Given the description of an element on the screen output the (x, y) to click on. 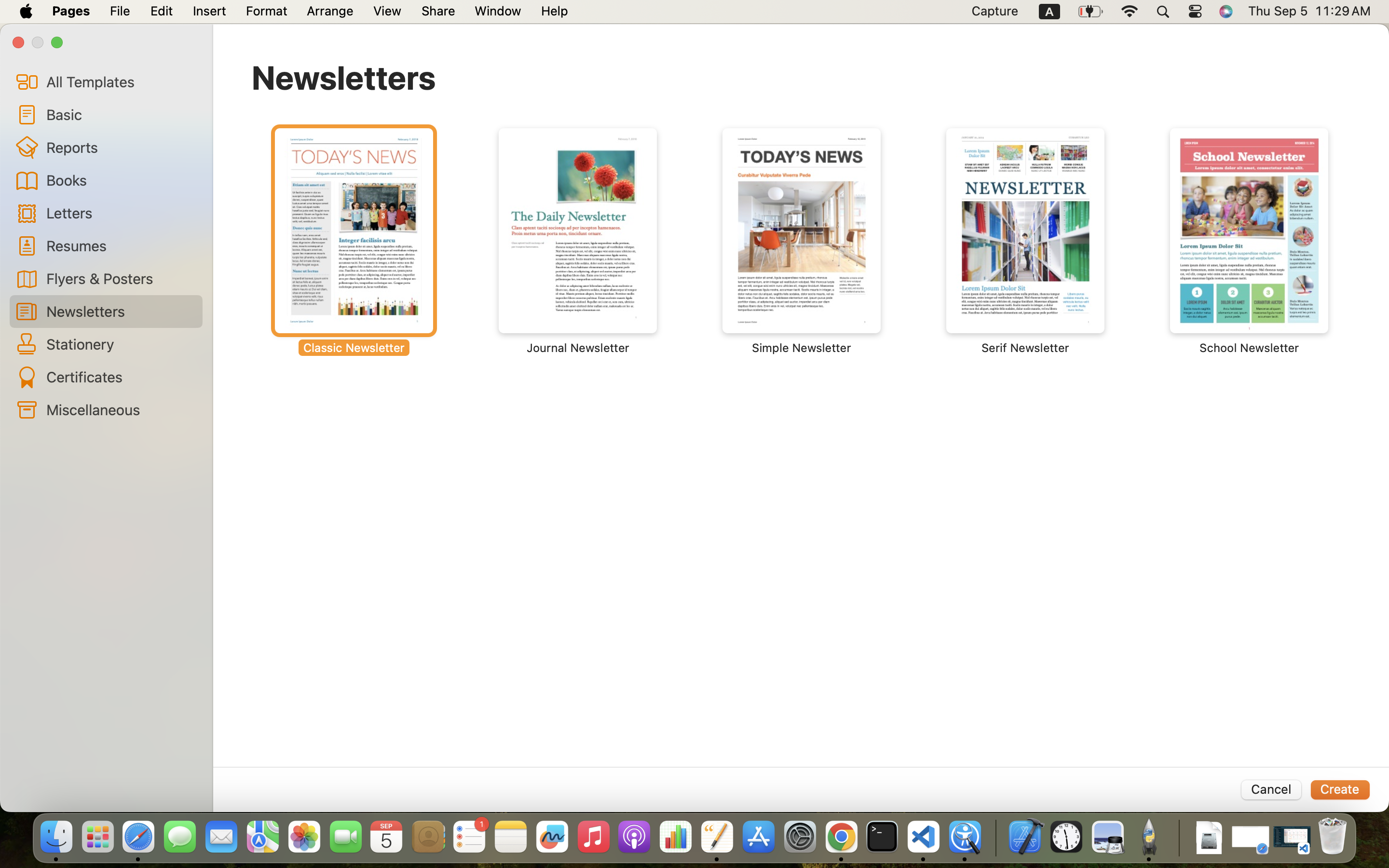
‎⁨Serif Newsletter⁩ Element type: AXButton (1025, 241)
Reports Element type: AXStaticText (120, 146)
Flyers & Posters Element type: AXStaticText (120, 278)
Books Element type: AXStaticText (120, 179)
‎⁨Simple Newsletter⁩ Element type: AXButton (801, 241)
